Given the description of an element on the screen output the (x, y) to click on. 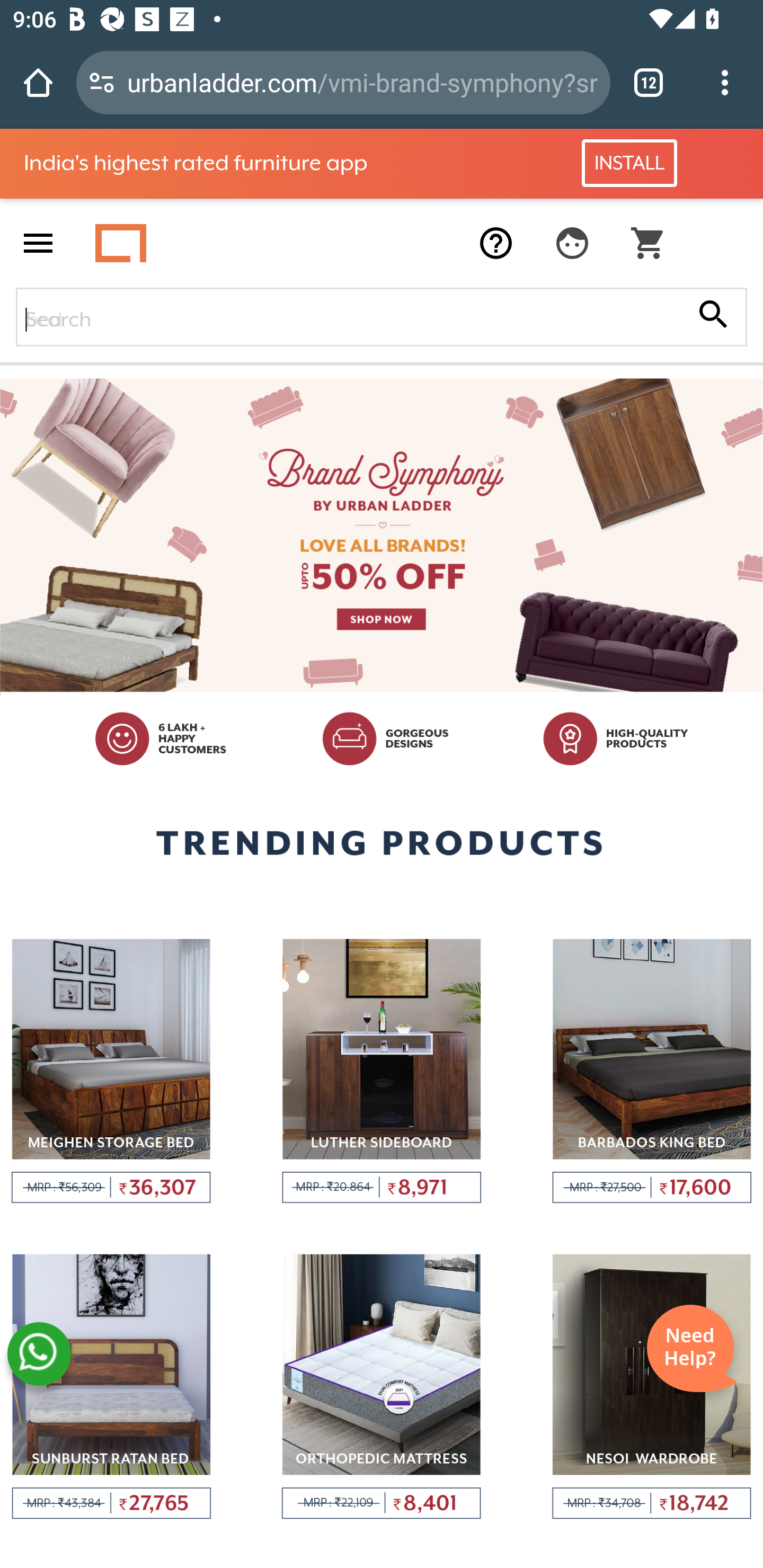
Open the home page (38, 82)
Connection is secure (101, 82)
Switch or close tabs (648, 82)
Customize and control Google Chrome (724, 82)
INSTALL (629, 162)
India's highest rated furniture app (247, 162)
hamburger logo (38, 242)
ul logo (120, 242)
help (495, 242)
 (572, 242)
 (648, 242)
bed (381, 316)
 (713, 315)
VMI_trending_products-1 (111, 1071)
VMI_trending_prodcucts-2 (381, 1071)
VMI_trending_prodcucts-3 (651, 1071)
VMI_trending_prodcut-4 (111, 1387)
VMI_trending_prodcucts-6 (651, 1387)
